Given the description of an element on the screen output the (x, y) to click on. 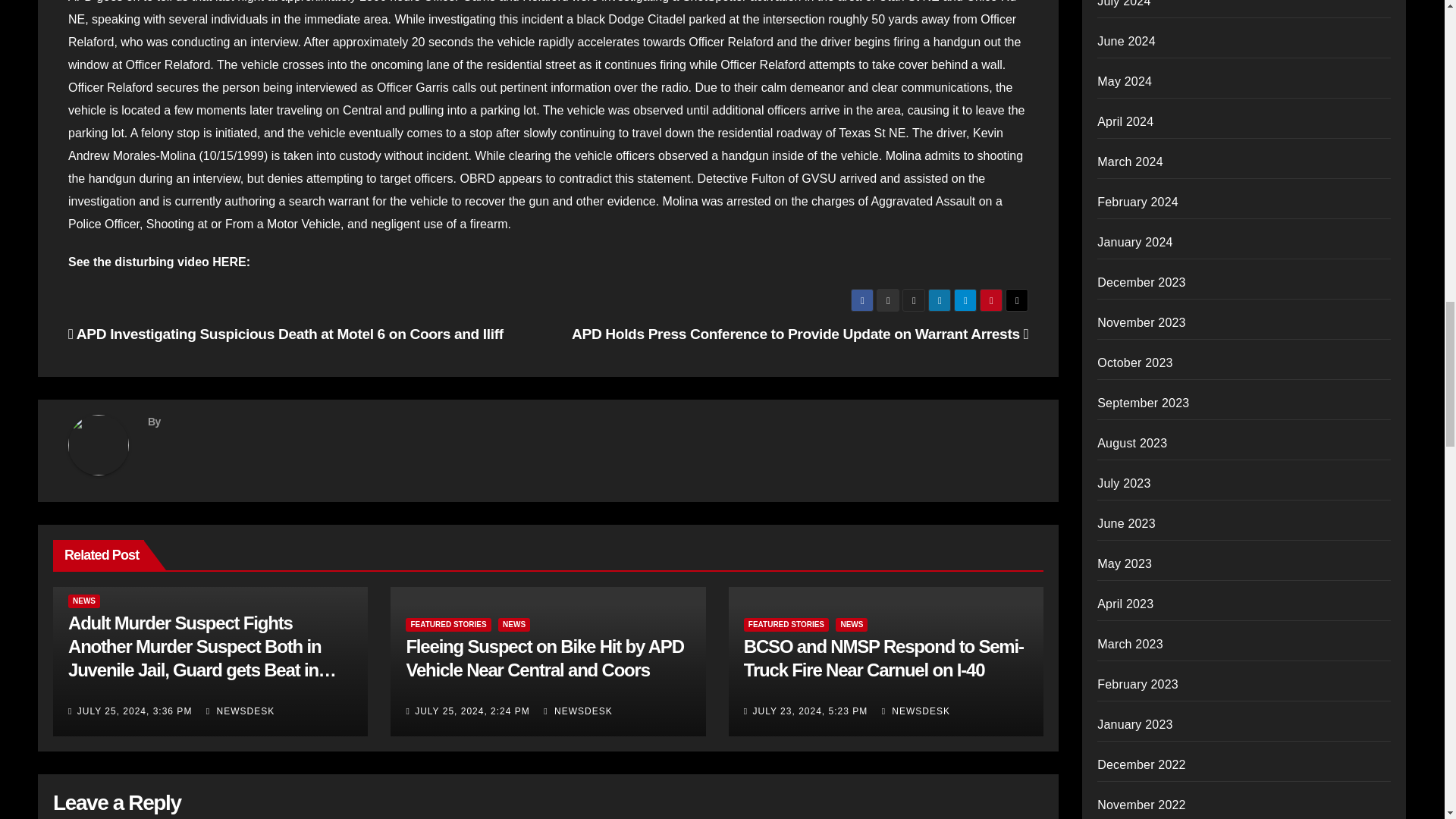
FEATURED STORIES (448, 624)
NEWSDESK (240, 710)
NEWS (84, 601)
JULY 25, 2024, 3:36 PM (134, 710)
